Given the description of an element on the screen output the (x, y) to click on. 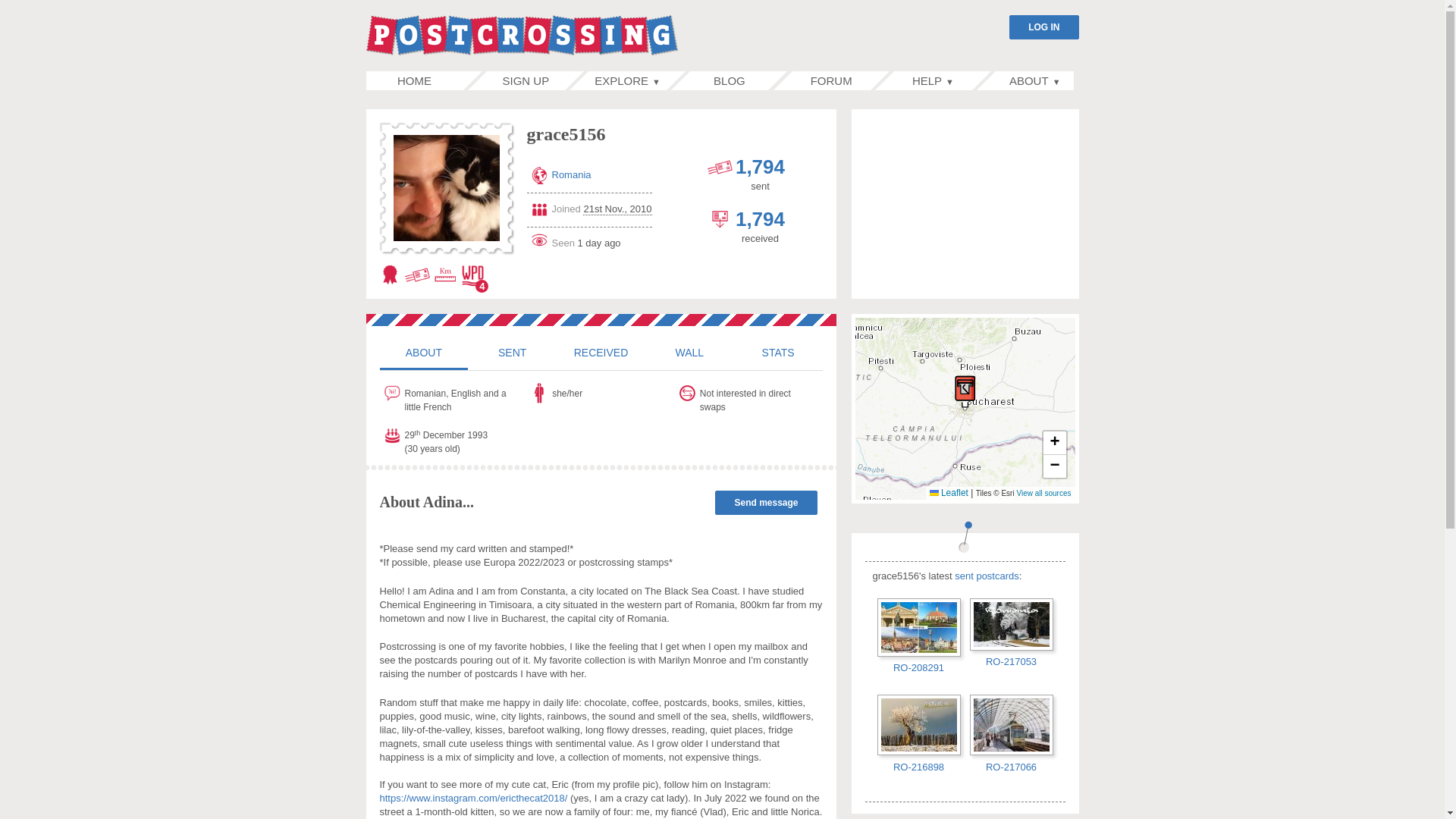
ABOUT (422, 352)
Romania (571, 174)
HOME (414, 80)
RECEIVED (600, 352)
1,794 (759, 166)
1,794 (759, 219)
Supporter badge (390, 274)
SENT (511, 352)
grace5156, Romania (446, 187)
3rd party ad content (964, 203)
SIGN UP (525, 80)
grace5156's sent postcards (511, 352)
grace5156's profile (422, 352)
Last login (587, 239)
Sent postcards (719, 166)
